Given the description of an element on the screen output the (x, y) to click on. 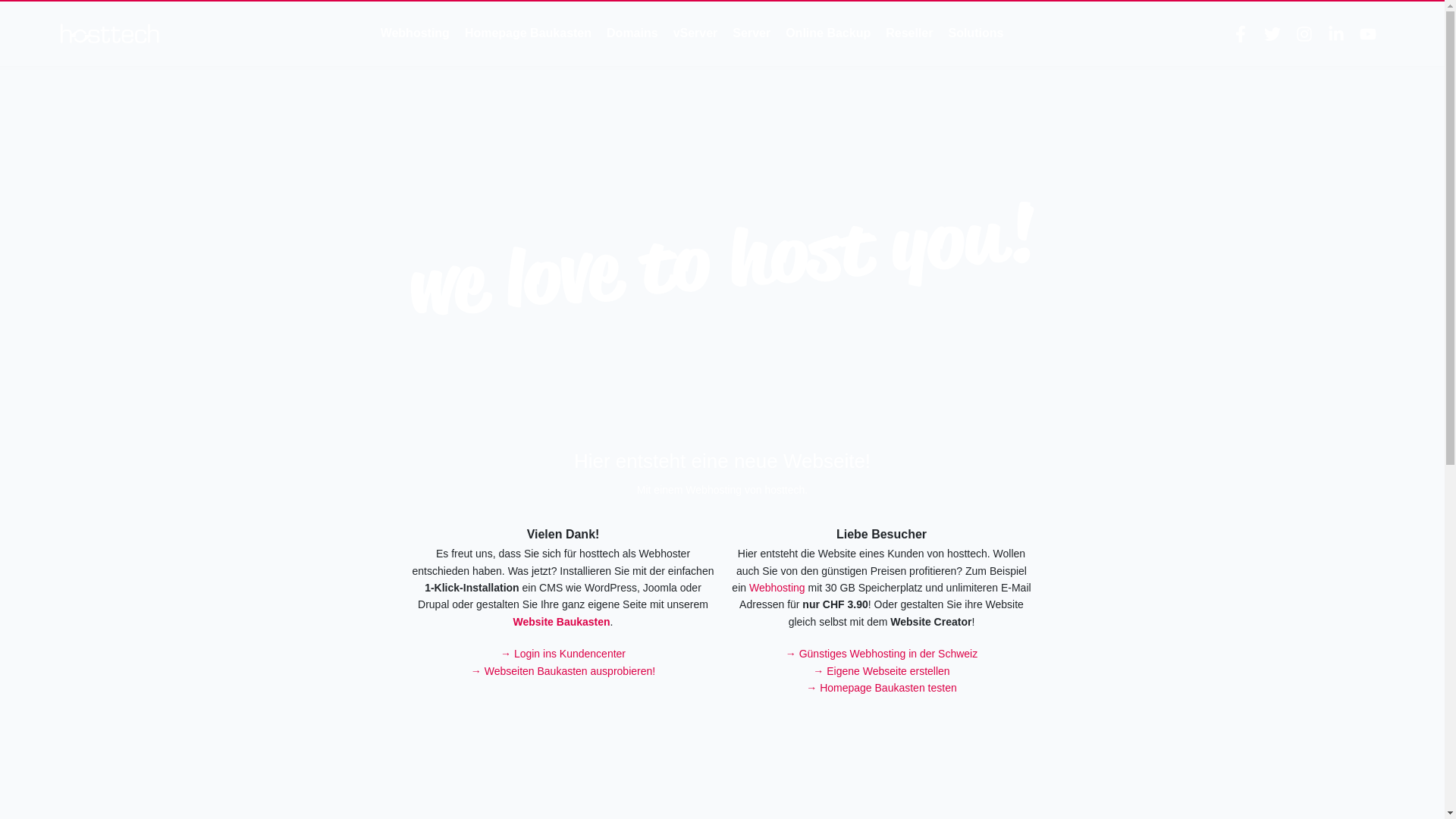
vServer Element type: text (695, 32)
Webhosting Element type: text (777, 587)
Webhosting Element type: text (414, 32)
Reseller Element type: text (908, 32)
Server Element type: text (751, 32)
Homepage Baukasten Element type: text (527, 32)
Solutions Element type: text (975, 32)
Online Backup Element type: text (827, 32)
Website Baukasten Element type: text (560, 621)
Domains Element type: text (632, 32)
